Given the description of an element on the screen output the (x, y) to click on. 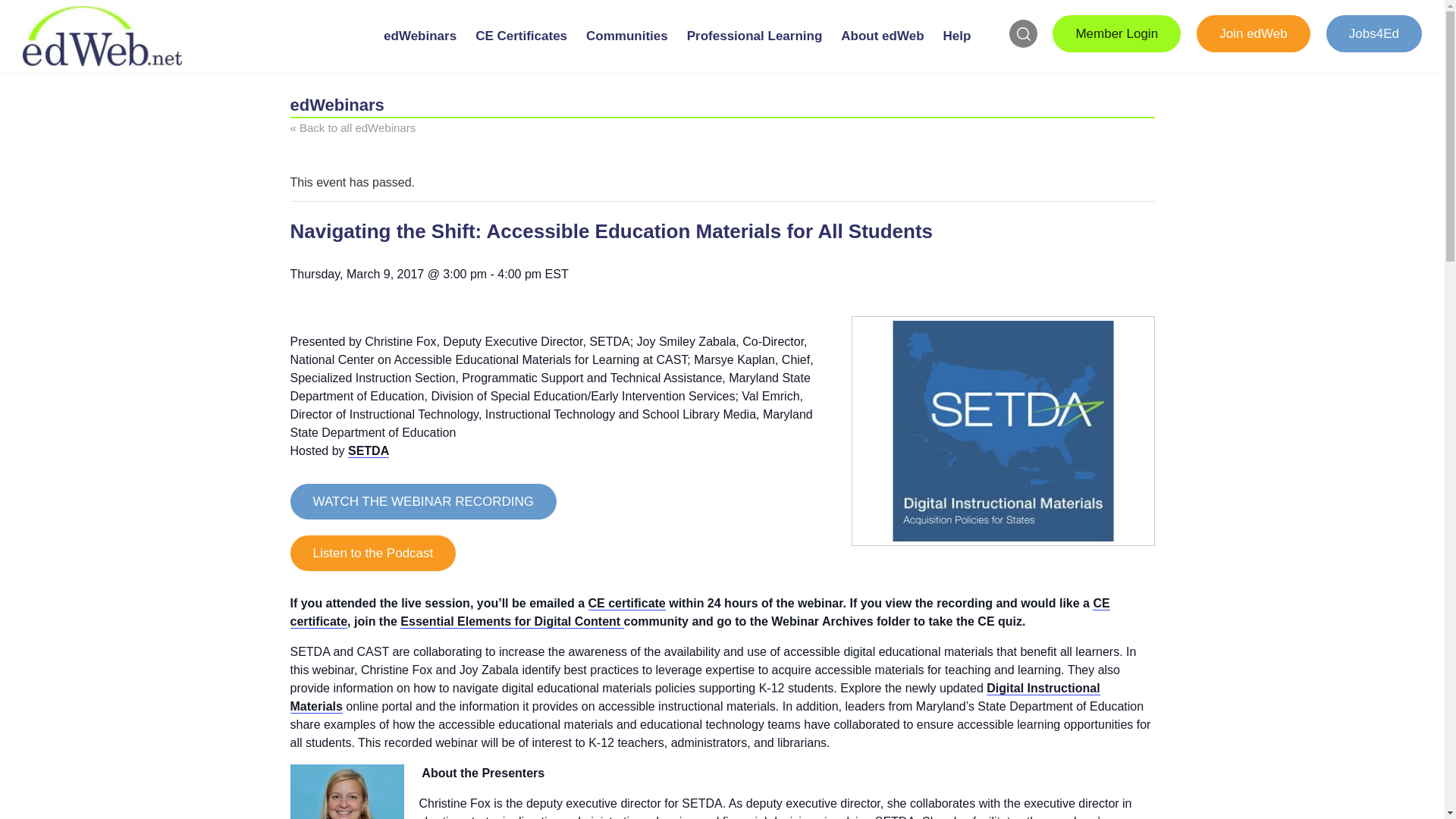
edWebinars (420, 49)
Communities (626, 49)
About edWeb (882, 49)
Professional Learning (754, 49)
CE Certificates (520, 49)
